Given the description of an element on the screen output the (x, y) to click on. 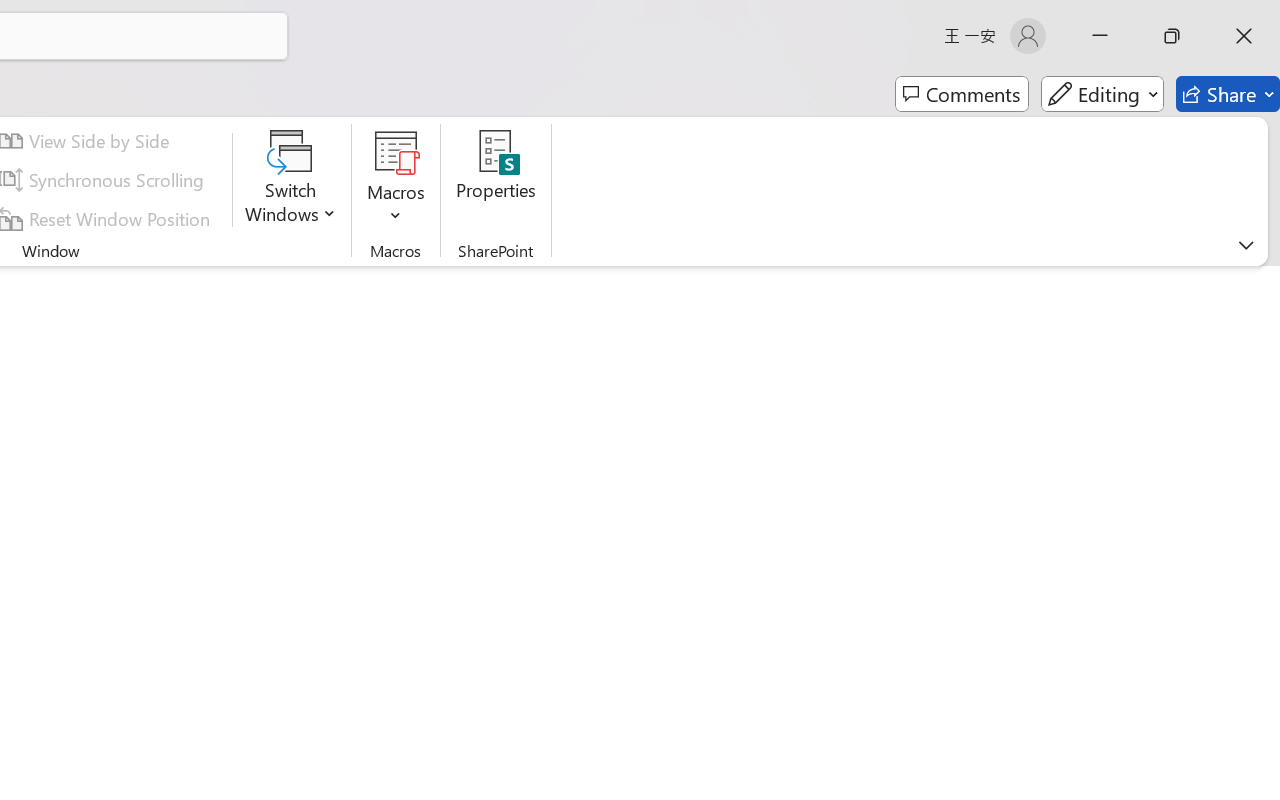
Switch Windows (290, 179)
Editing (1101, 94)
Macros (395, 179)
Restore Down (1172, 36)
Close (1244, 36)
Comments (961, 94)
Share (1228, 94)
View Macros (395, 151)
Properties (496, 179)
More Options (395, 208)
Ribbon Display Options (1246, 245)
Minimize (1099, 36)
